Given the description of an element on the screen output the (x, y) to click on. 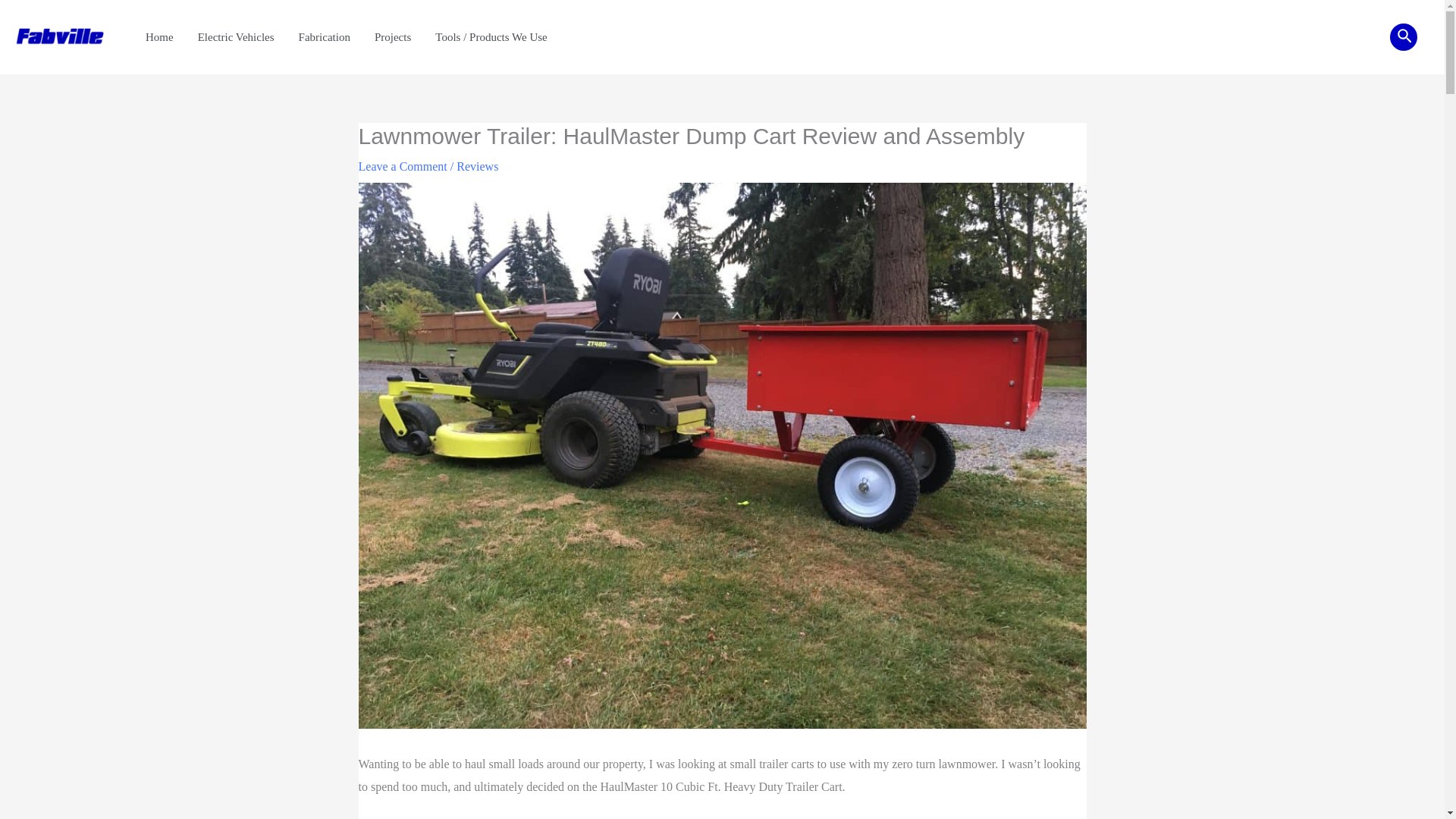
Reviews (477, 165)
Fabrication (324, 36)
Electric Vehicles (236, 36)
Projects (392, 36)
Home (159, 36)
Leave a Comment (402, 165)
